Given the description of an element on the screen output the (x, y) to click on. 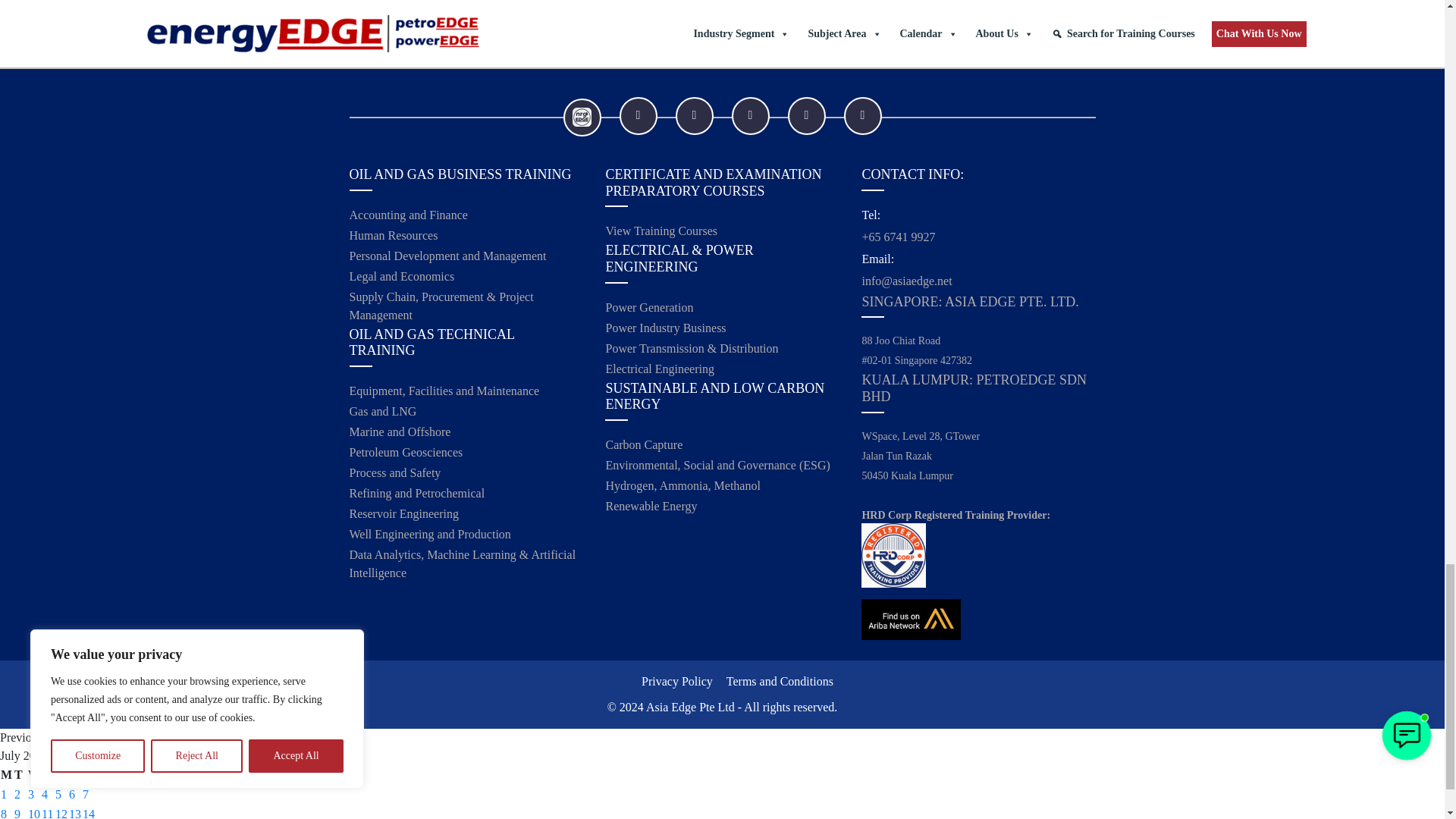
Previous (21, 737)
Wednesday (33, 774)
Next (53, 737)
